Given the description of an element on the screen output the (x, y) to click on. 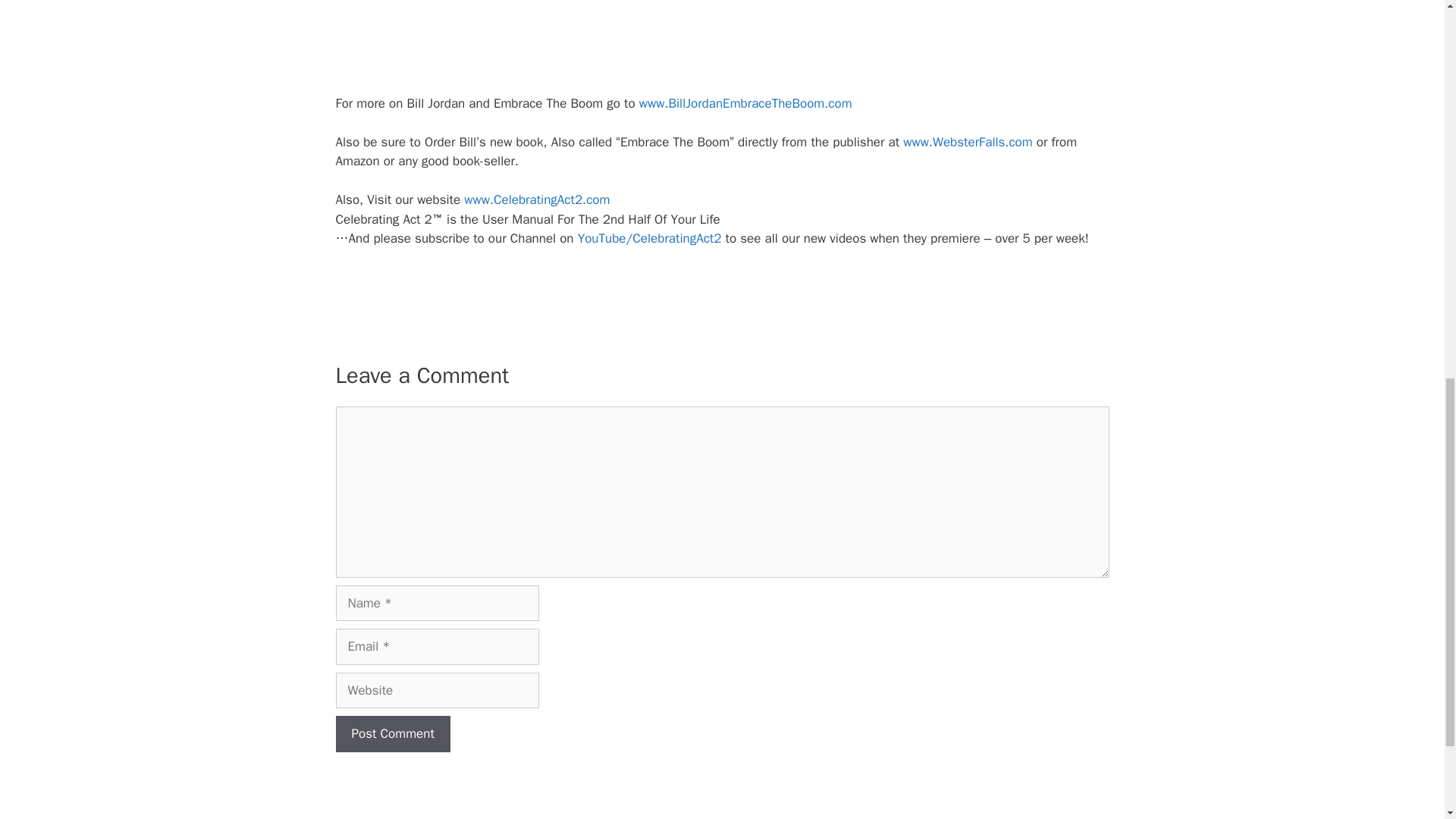
www.WebsterFalls.com (967, 141)
Post Comment (391, 733)
Scroll back to top (1406, 720)
www.BillJordanEmbraceTheBoom.com (745, 103)
Post Comment (391, 733)
www.CelebratingAct2.com (537, 199)
